Given the description of an element on the screen output the (x, y) to click on. 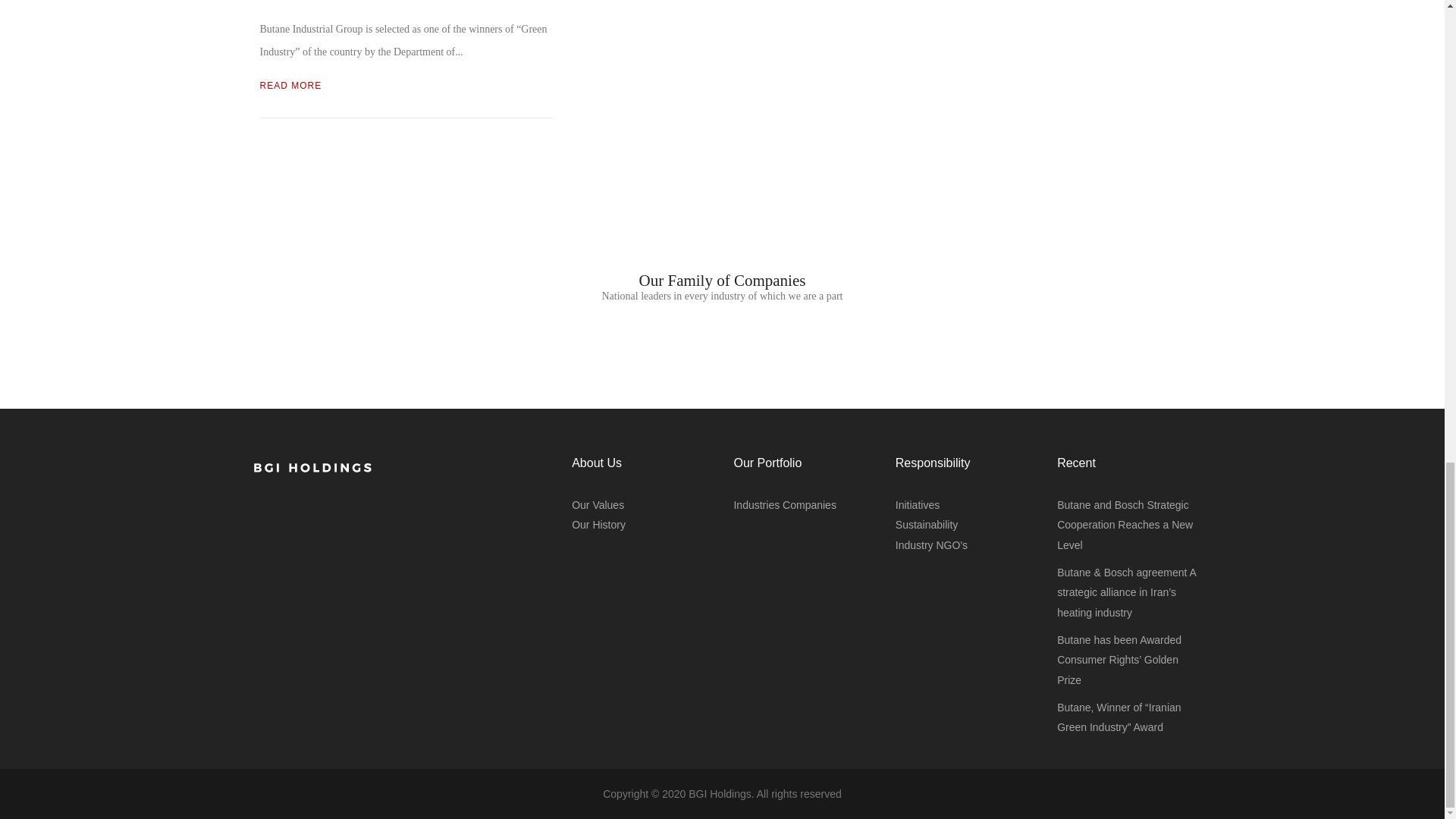
Initiatives (917, 504)
Our History (599, 524)
Our Values (598, 504)
Industries (755, 504)
READ MORE (290, 85)
Companies (809, 504)
